Given the description of an element on the screen output the (x, y) to click on. 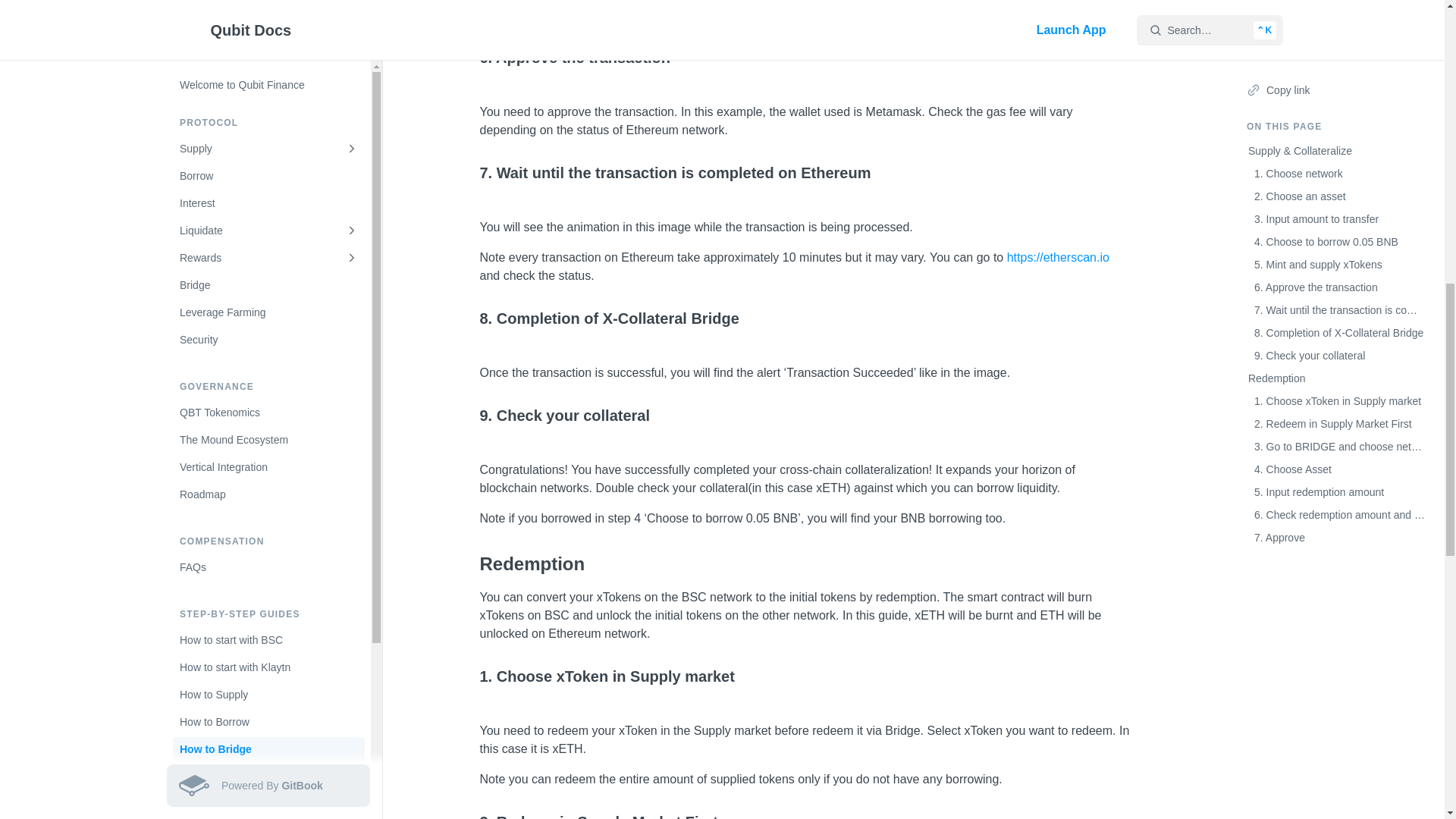
Risks (269, 57)
Privacy Policy (269, 30)
Learning Resources (269, 127)
Terms of Use (269, 7)
